Given the description of an element on the screen output the (x, y) to click on. 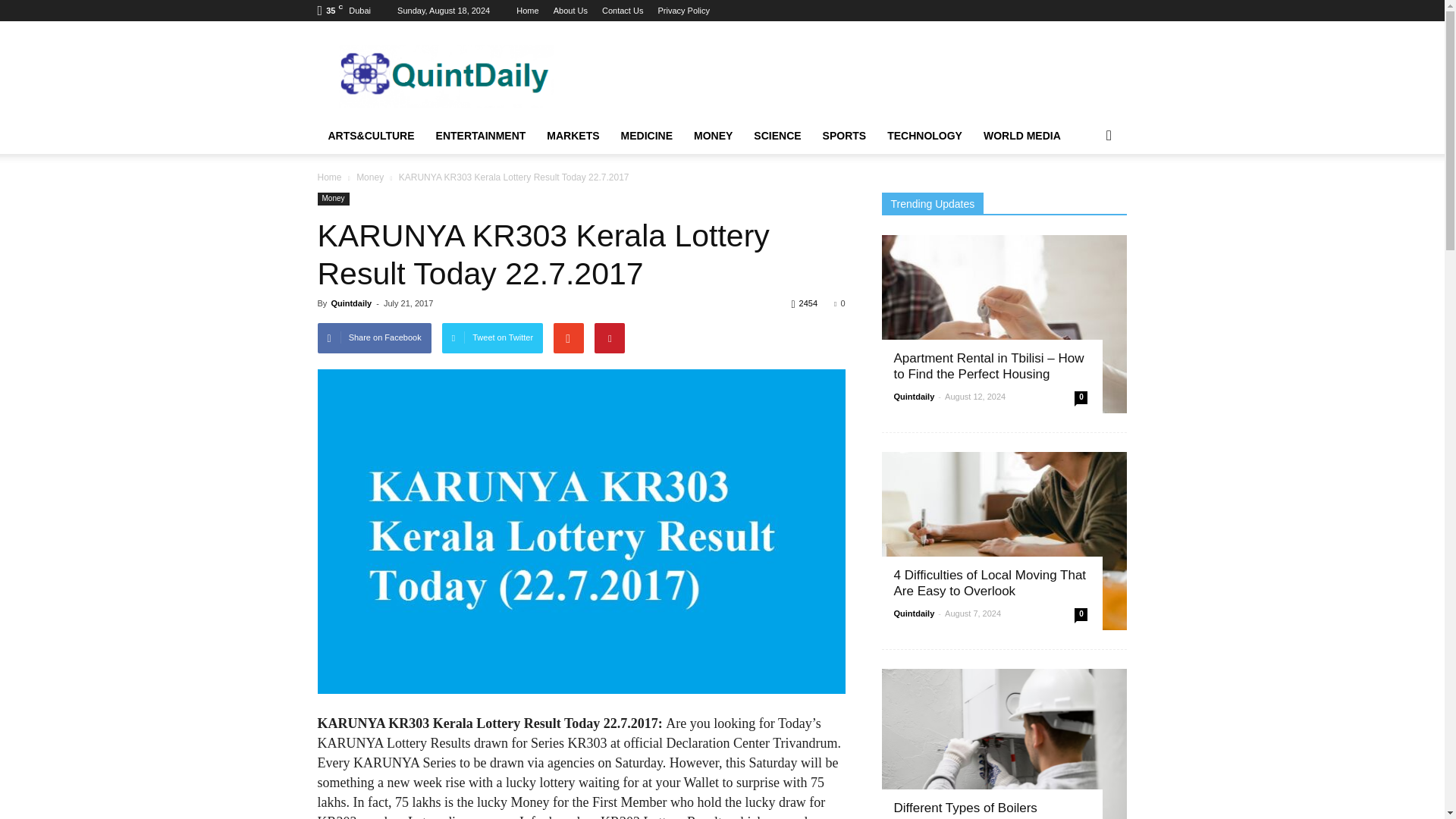
SCIENCE (776, 135)
TECHNOLOGY (924, 135)
Contact Us (622, 10)
Search (1085, 196)
MARKETS (572, 135)
0 (839, 302)
ENTERTAINMENT (481, 135)
View all posts in Money (370, 176)
Home (328, 176)
Money (370, 176)
